Given the description of an element on the screen output the (x, y) to click on. 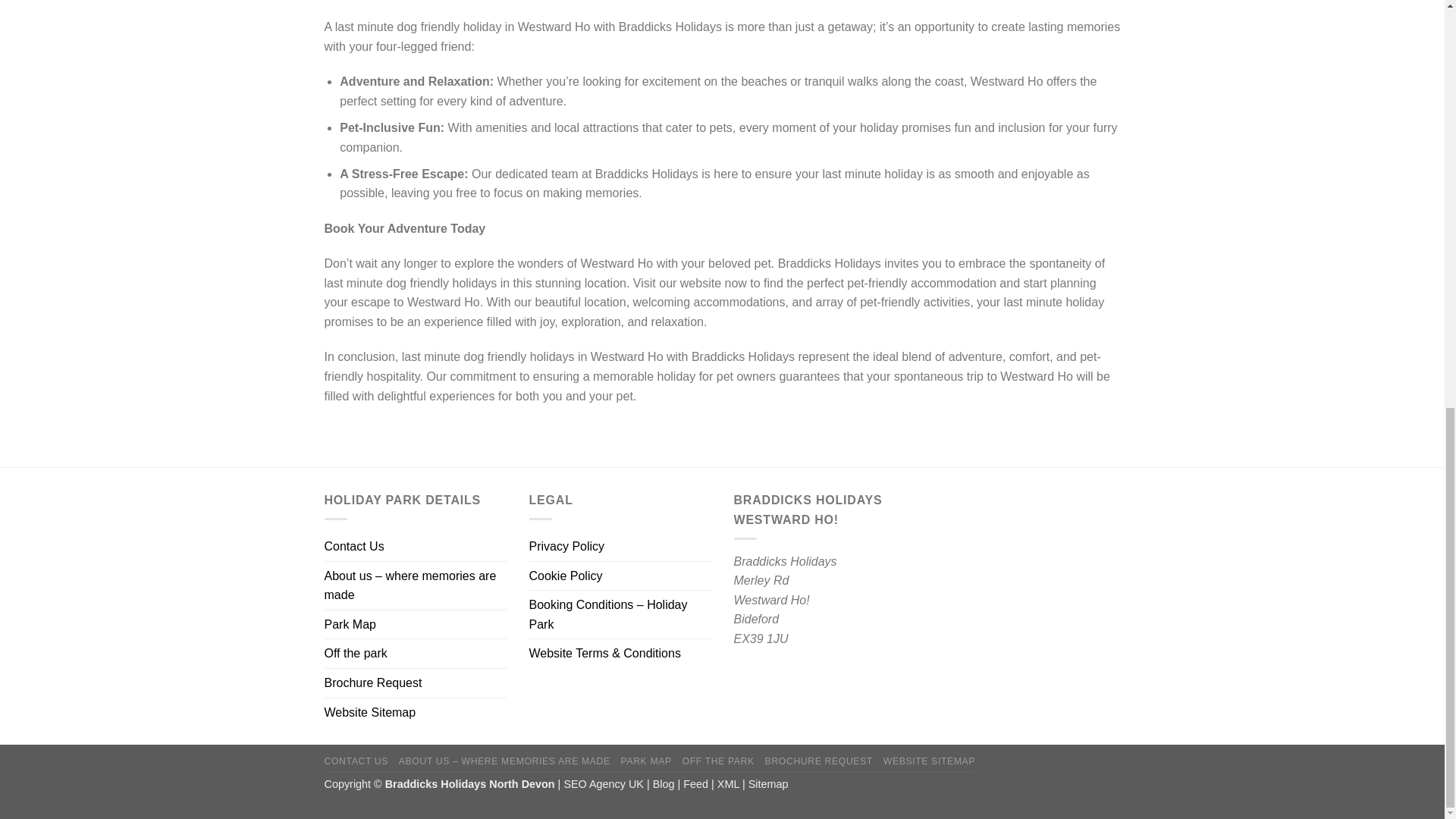
SEO Agency UK (603, 784)
